Given the description of an element on the screen output the (x, y) to click on. 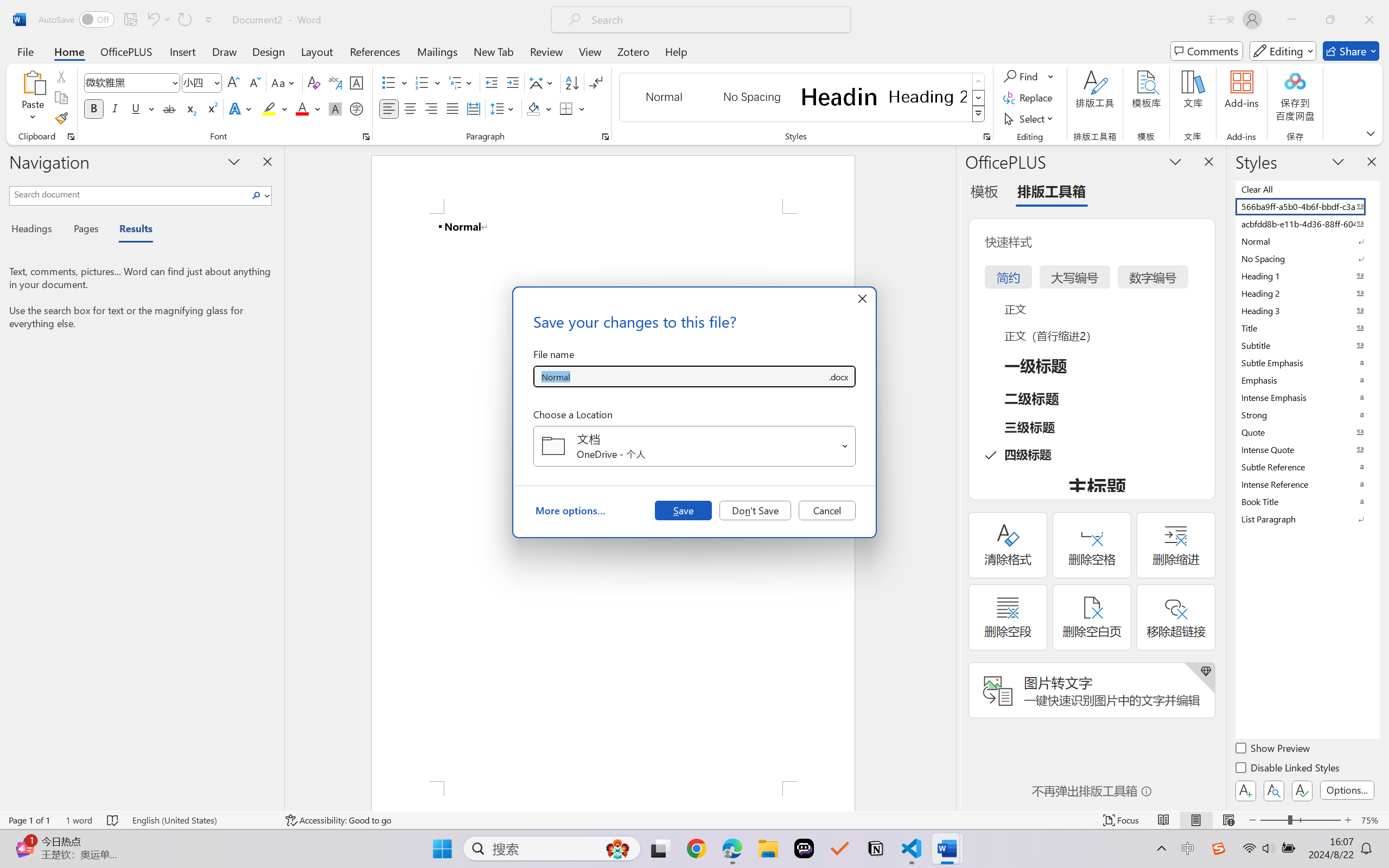
Cut (60, 75)
Open (844, 446)
Don't Save (755, 509)
Character Border (356, 82)
Clear Formatting (313, 82)
Headings (35, 229)
Microsoft search (715, 19)
Bold (94, 108)
Subscript (190, 108)
Minimize (1291, 19)
Save as type (837, 376)
Page Number Page 1 of 1 (29, 819)
Poe (804, 848)
